Given the description of an element on the screen output the (x, y) to click on. 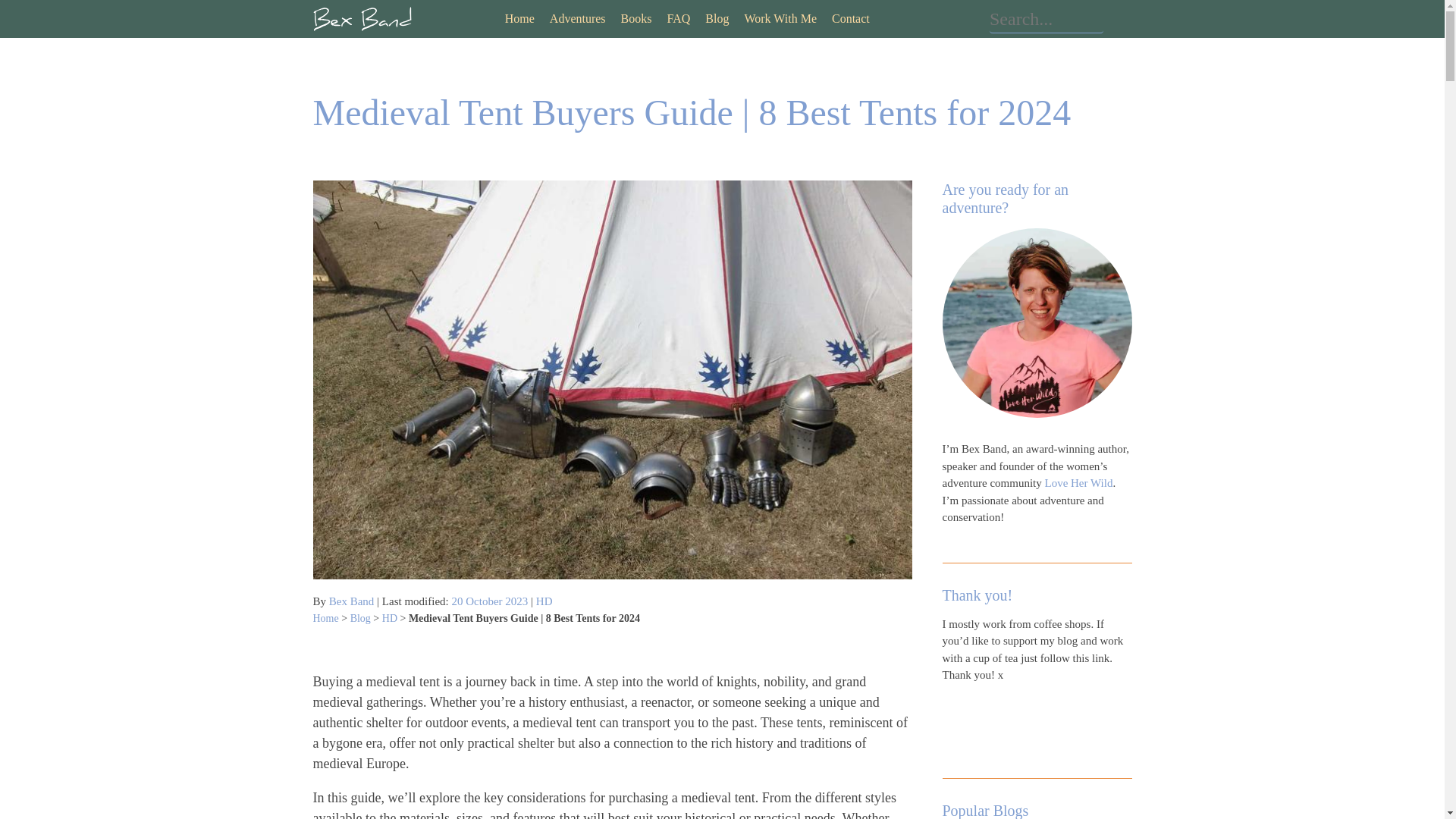
Books (636, 18)
Contact (850, 18)
20 October 2023 (489, 601)
Home (325, 618)
Bex Band (351, 601)
HD (389, 618)
Blog (716, 18)
Home (519, 18)
Bex Band (361, 18)
HD (544, 601)
